Given the description of an element on the screen output the (x, y) to click on. 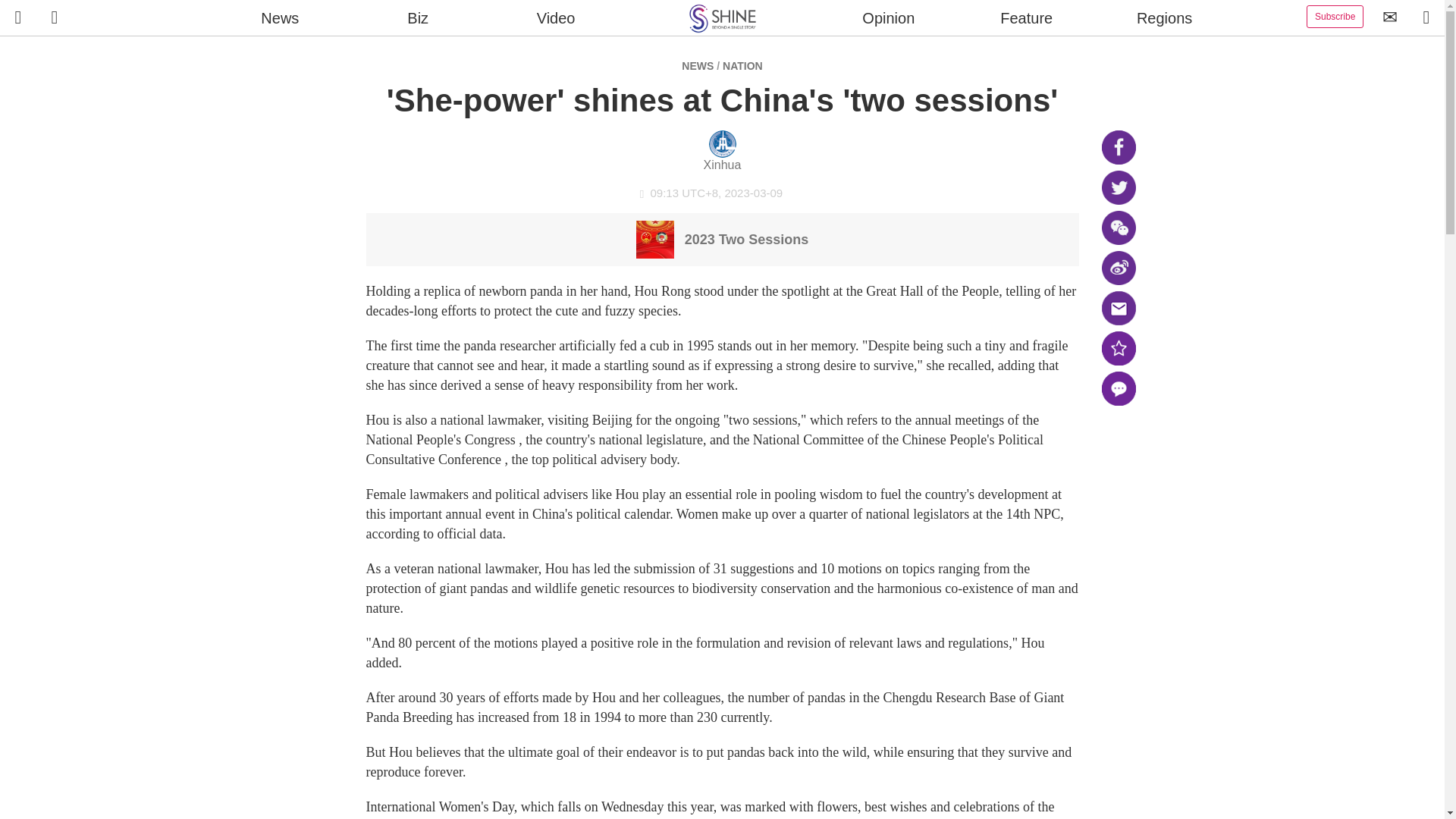
NEWS (697, 65)
Share your comments (1117, 388)
Add to favorites (1117, 348)
2023 Two Sessions (722, 238)
Share via email (1117, 308)
NATION (742, 65)
